Given the description of an element on the screen output the (x, y) to click on. 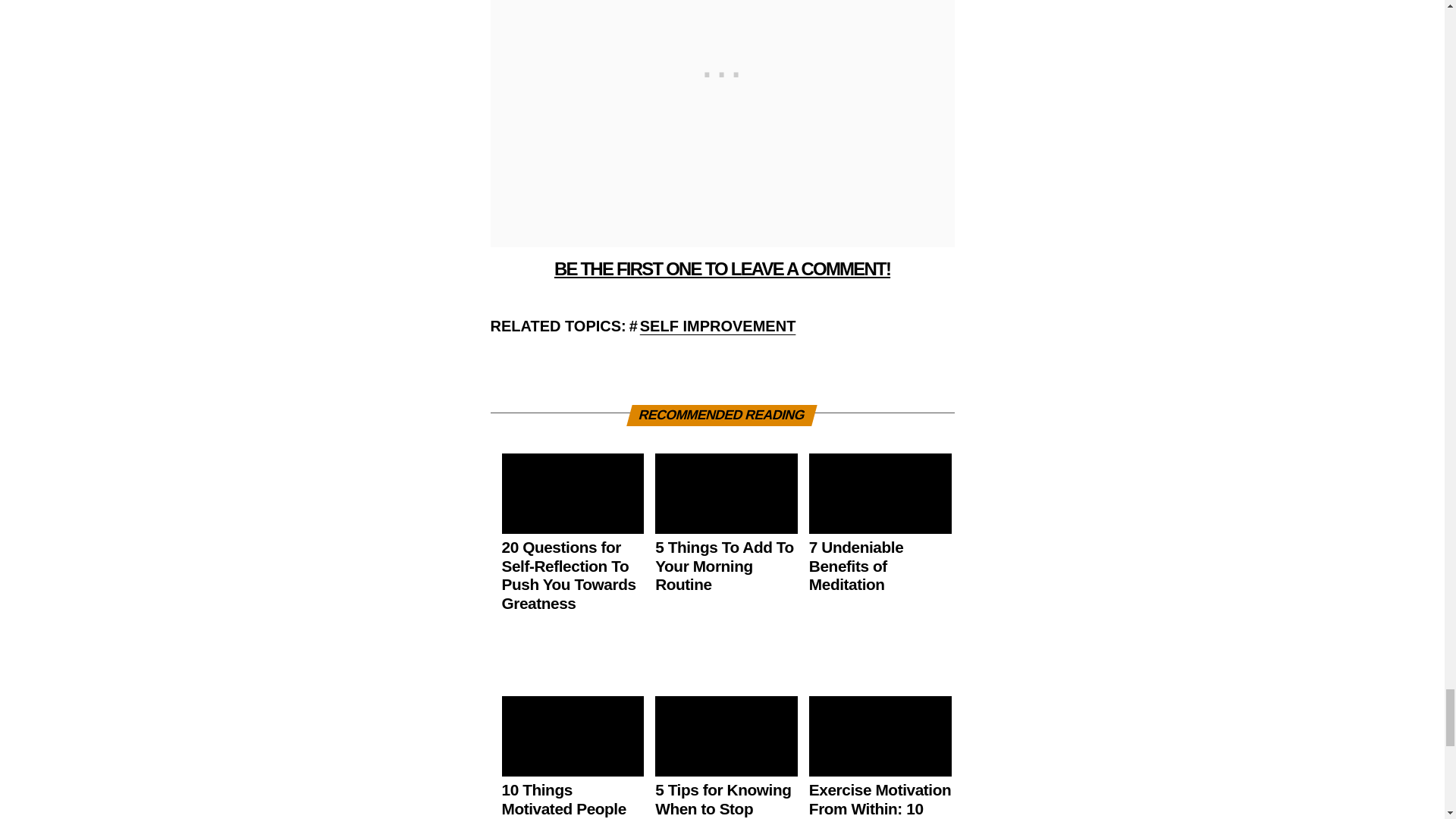
10 Things Motivated People Hate (564, 800)
5 Things To Add To Your Morning Routine (724, 565)
7 Undeniable Benefits of Meditation (855, 565)
5 Tips for Knowing When to Stop Trusting Someone (722, 800)
SELF IMPROVEMENT (718, 325)
